Given the description of an element on the screen output the (x, y) to click on. 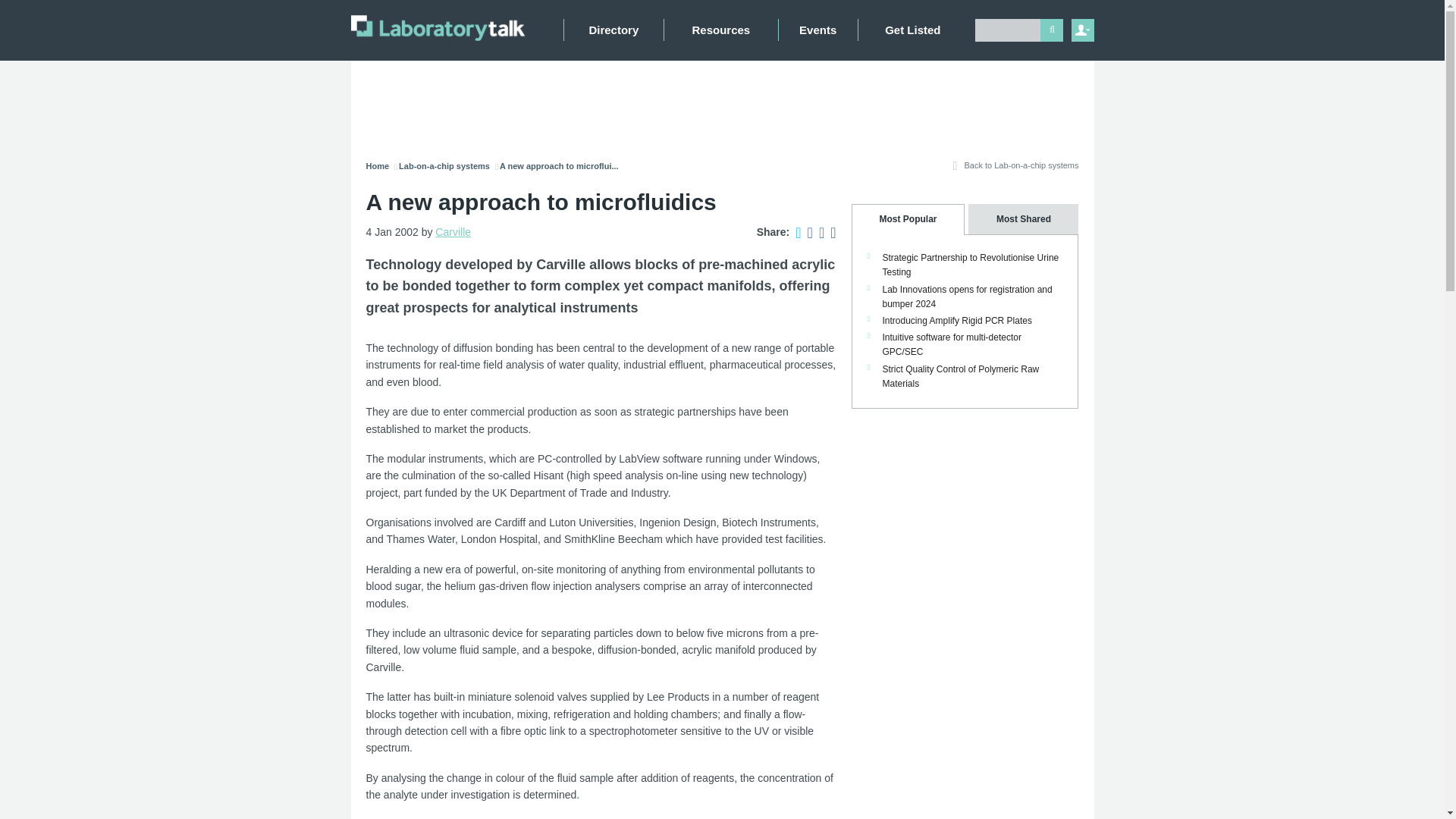
Share on Facebook (807, 232)
Directory (612, 29)
Lab Innovations opens for registration and bumper 2024 (967, 296)
Lab-on-a-chip systems (443, 165)
Back to Lab-on-a-chip systems (1013, 170)
Resources (720, 29)
3rd party ad content (725, 101)
Share on Twitter (794, 232)
Home (376, 165)
Most Shared (1020, 218)
